Given the description of an element on the screen output the (x, y) to click on. 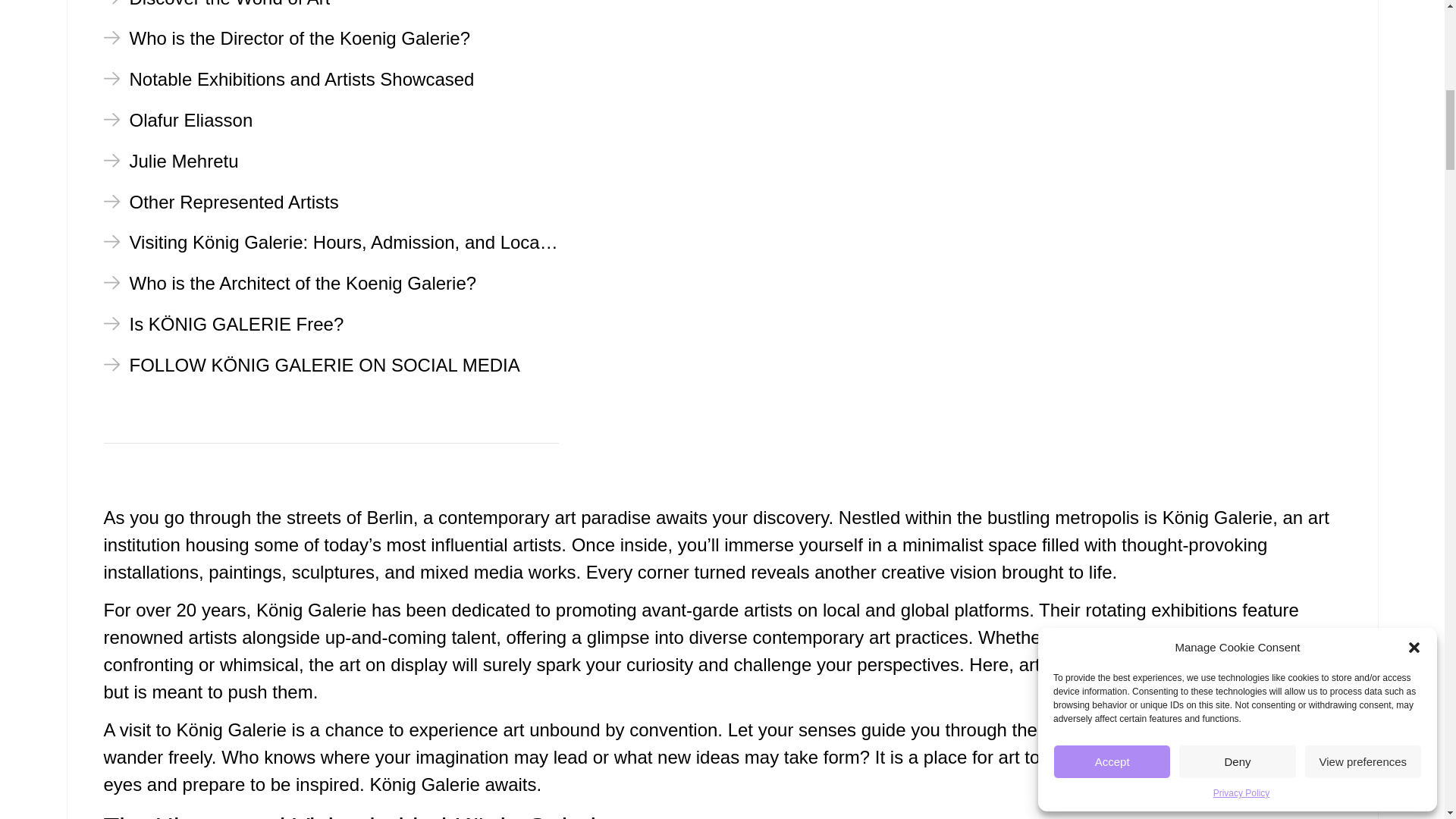
Who is the Director of the Koenig Galerie? (286, 38)
Discover the World of Art (216, 4)
